Given the description of an element on the screen output the (x, y) to click on. 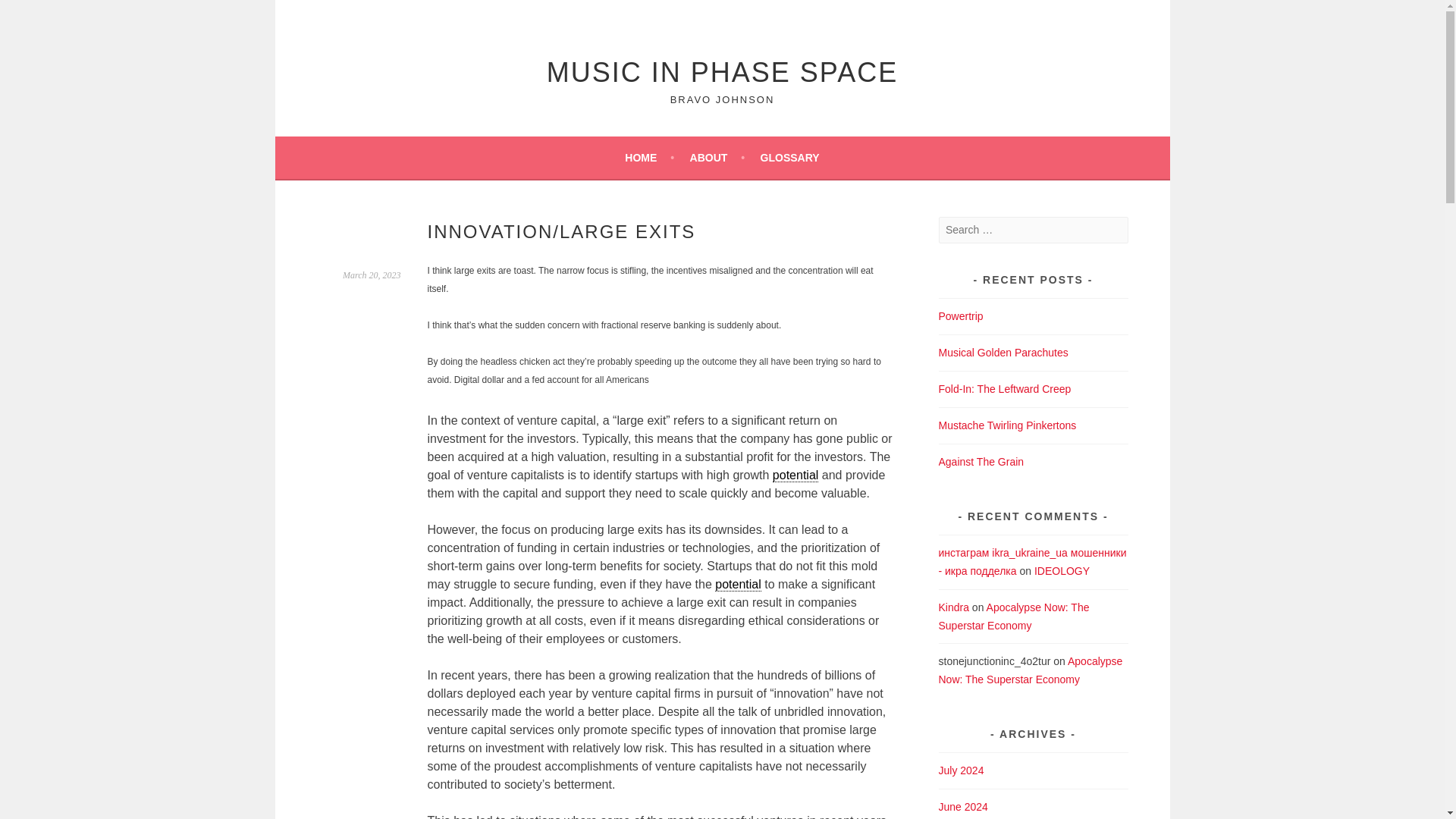
GLOSSARY (789, 157)
July 2024 (961, 770)
MUSIC IN PHASE SPACE (722, 71)
Against The Grain (982, 461)
June 2024 (963, 806)
Apocalypse Now: The Superstar Economy (1014, 615)
MUSIC IN PHASE SPACE (722, 71)
Fold-In: The Leftward Creep (1005, 388)
potential (795, 475)
ABOUT (717, 157)
IDEOLOGY (1061, 571)
March 20, 2023 (371, 275)
Kindra (954, 606)
Musical Golden Parachutes (1003, 352)
Powertrip (961, 316)
